Given the description of an element on the screen output the (x, y) to click on. 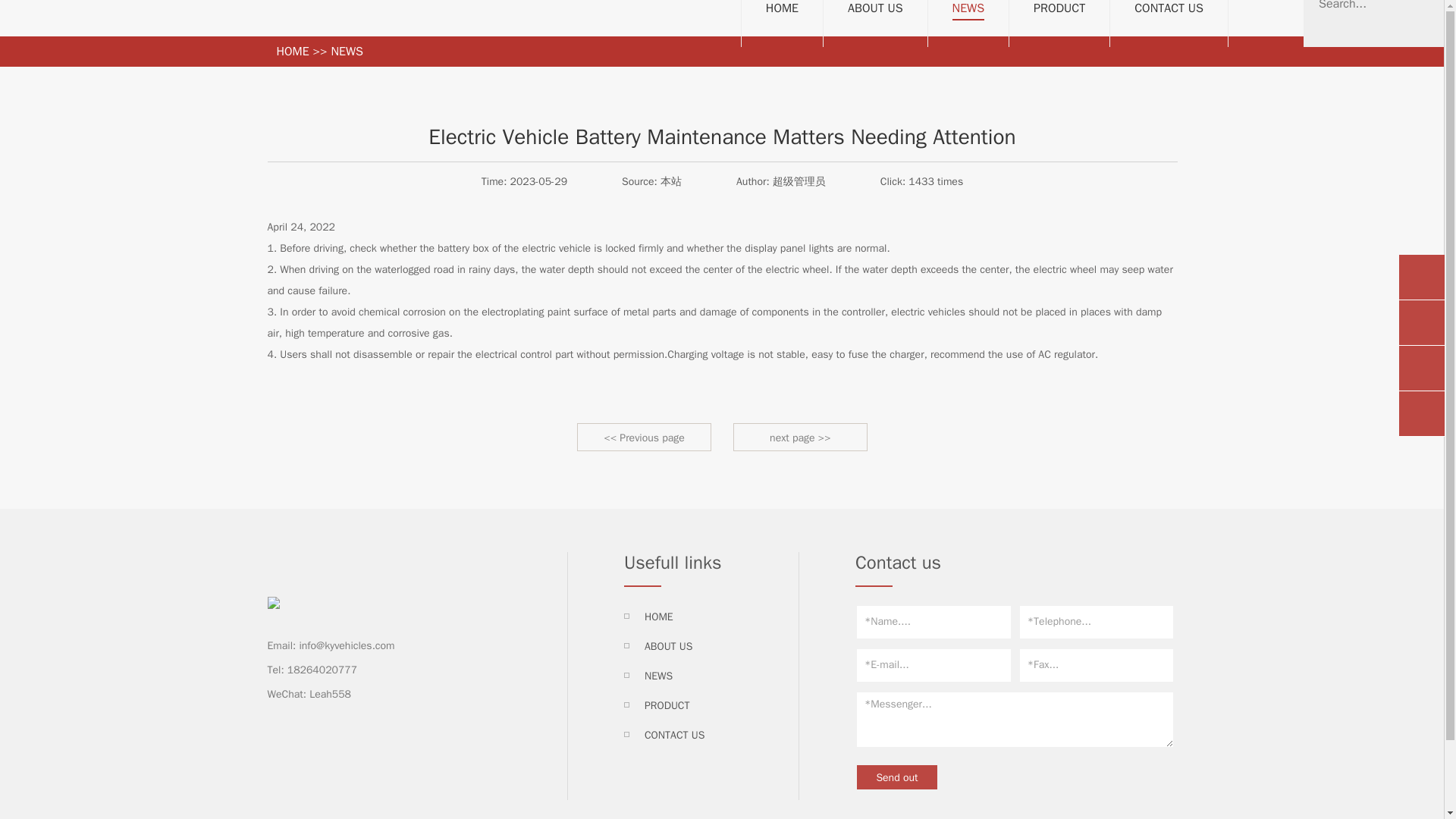
Send out (897, 776)
HOME (292, 51)
PRODUCT (667, 705)
PRODUCT (1058, 9)
CONTACT US (674, 735)
HOME (658, 616)
CONTACT US (1169, 9)
NEWS (346, 51)
NEWS (968, 10)
NEWS (658, 675)
ABOUT US (874, 9)
HOME (781, 9)
ABOUT US (669, 645)
